Given the description of an element on the screen output the (x, y) to click on. 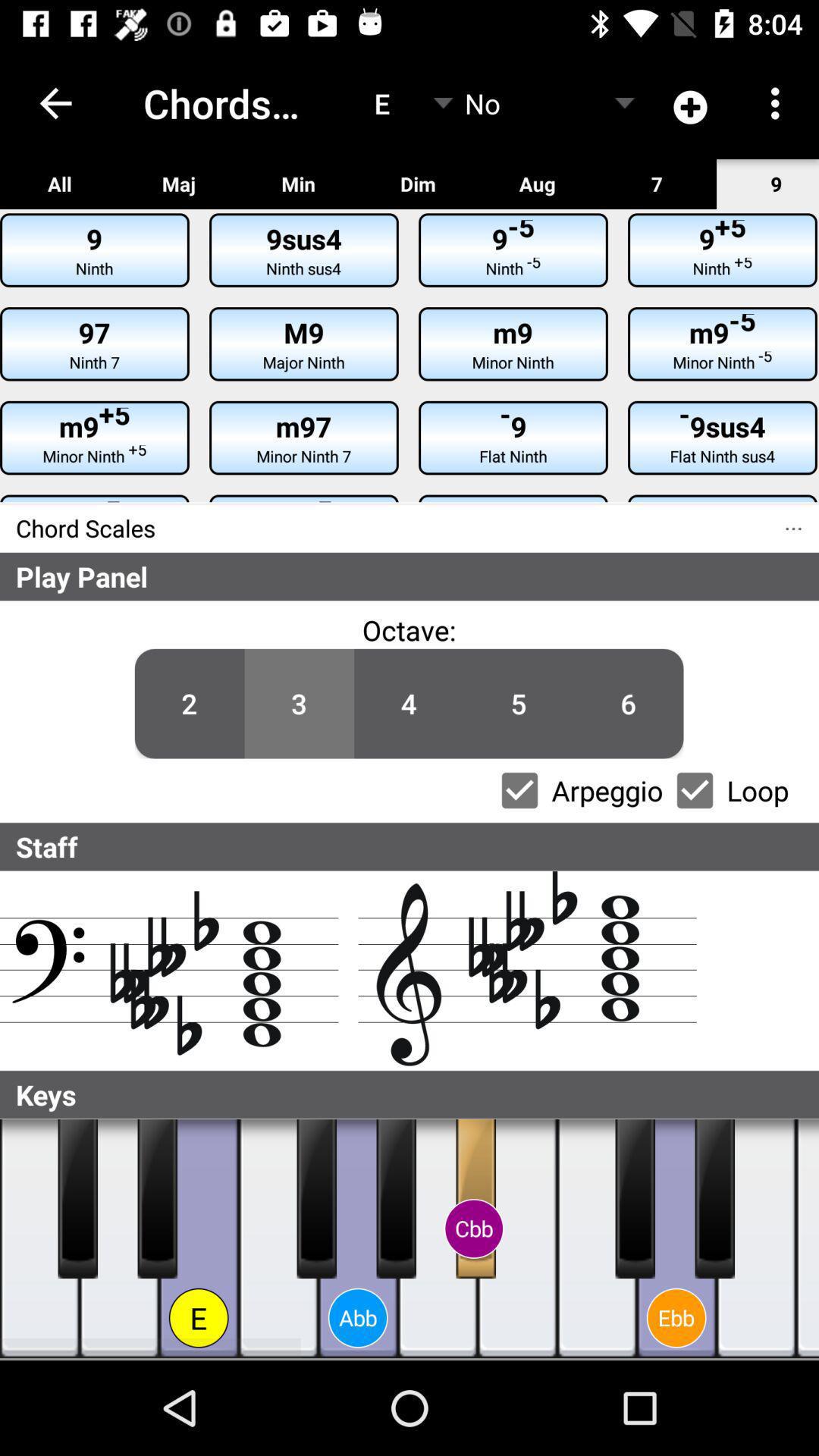
white piano key (807, 1238)
